Given the description of an element on the screen output the (x, y) to click on. 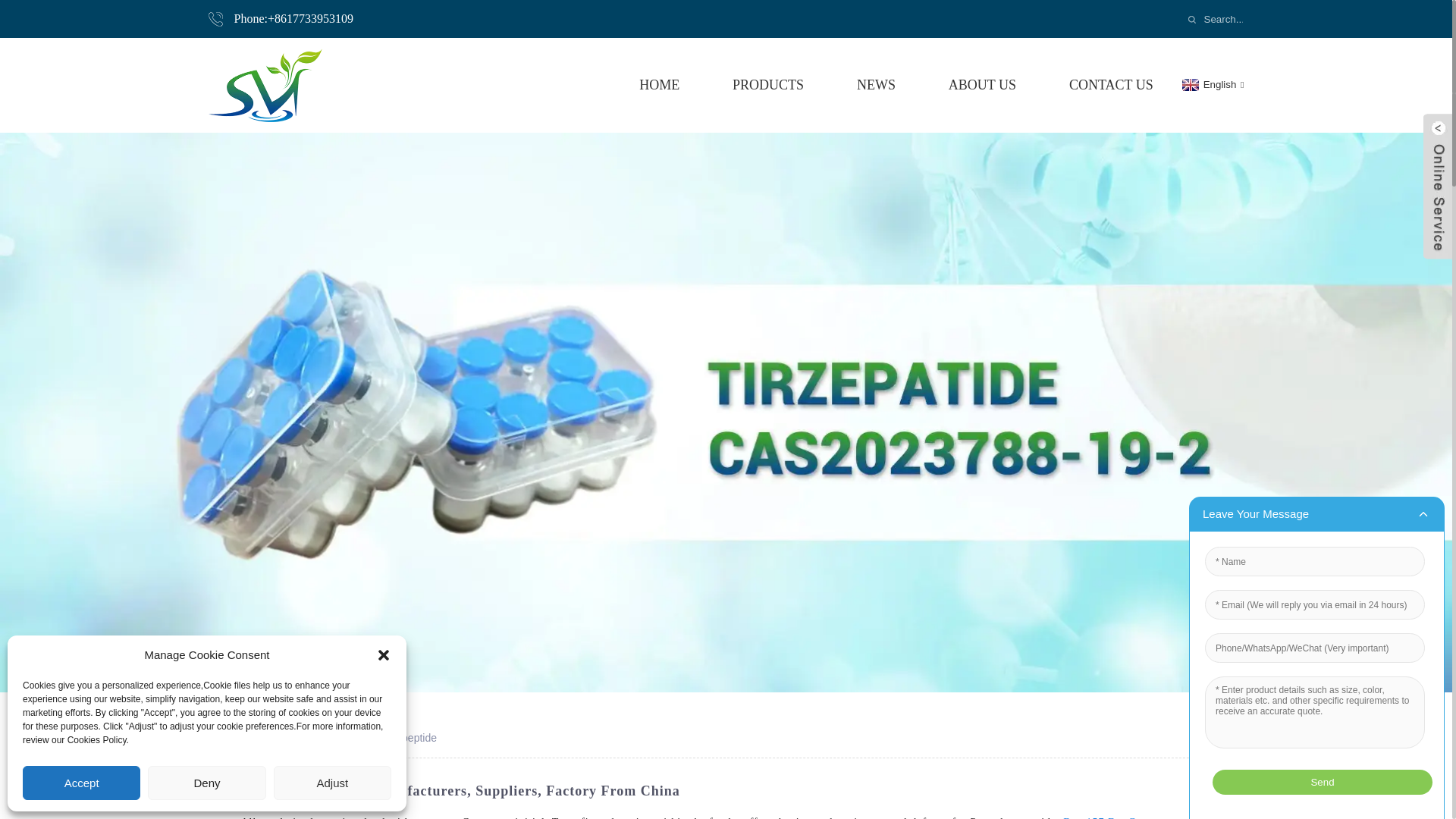
ABOUT US (982, 84)
Pentadecapeptide (393, 737)
HOME (659, 84)
PRODUCTS (767, 84)
CONTACT US (1110, 84)
NEWS (876, 84)
Getting started (288, 737)
English (1210, 84)
